Given the description of an element on the screen output the (x, y) to click on. 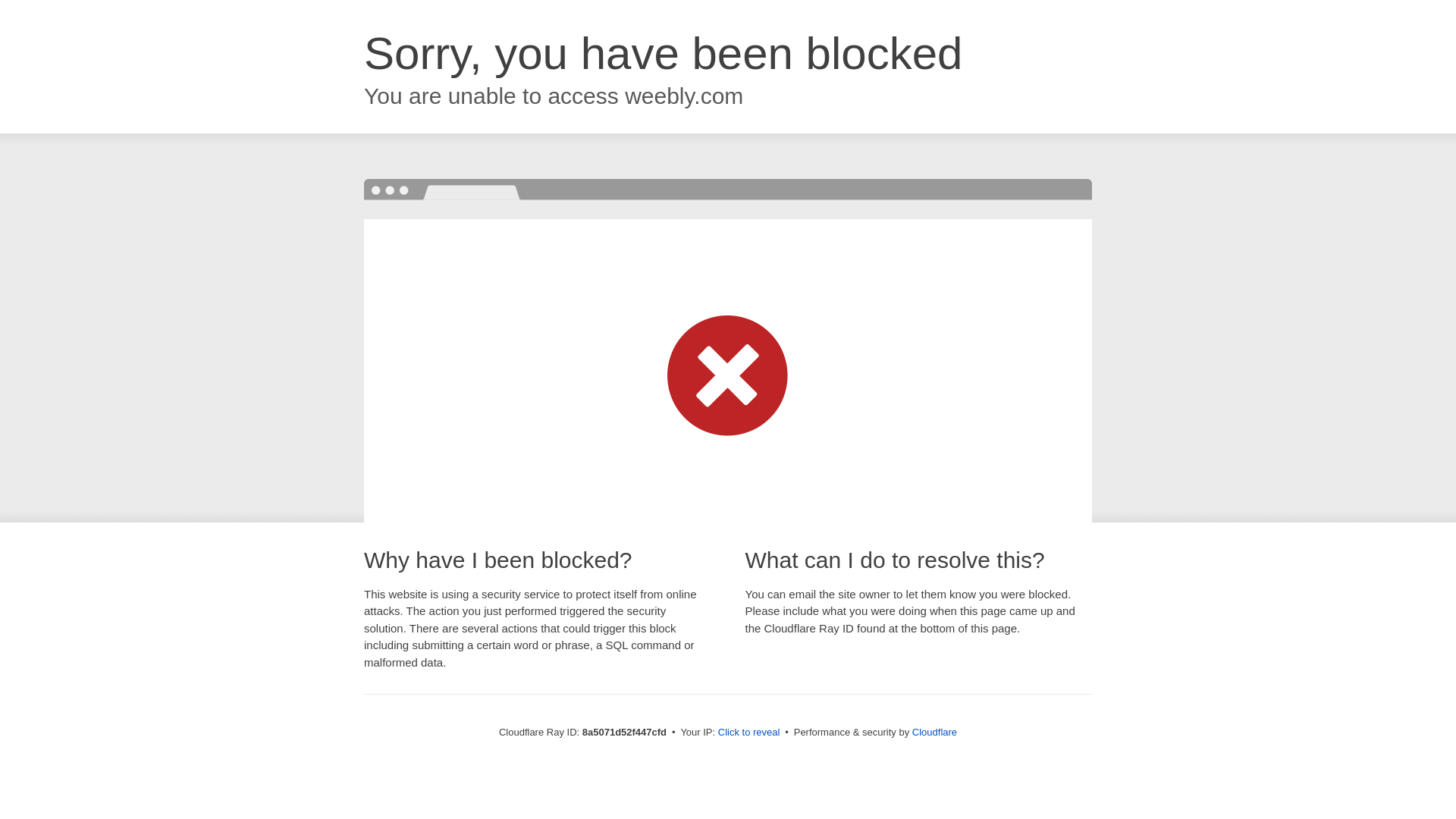
Click to reveal (748, 732)
Cloudflare (934, 731)
